Given the description of an element on the screen output the (x, y) to click on. 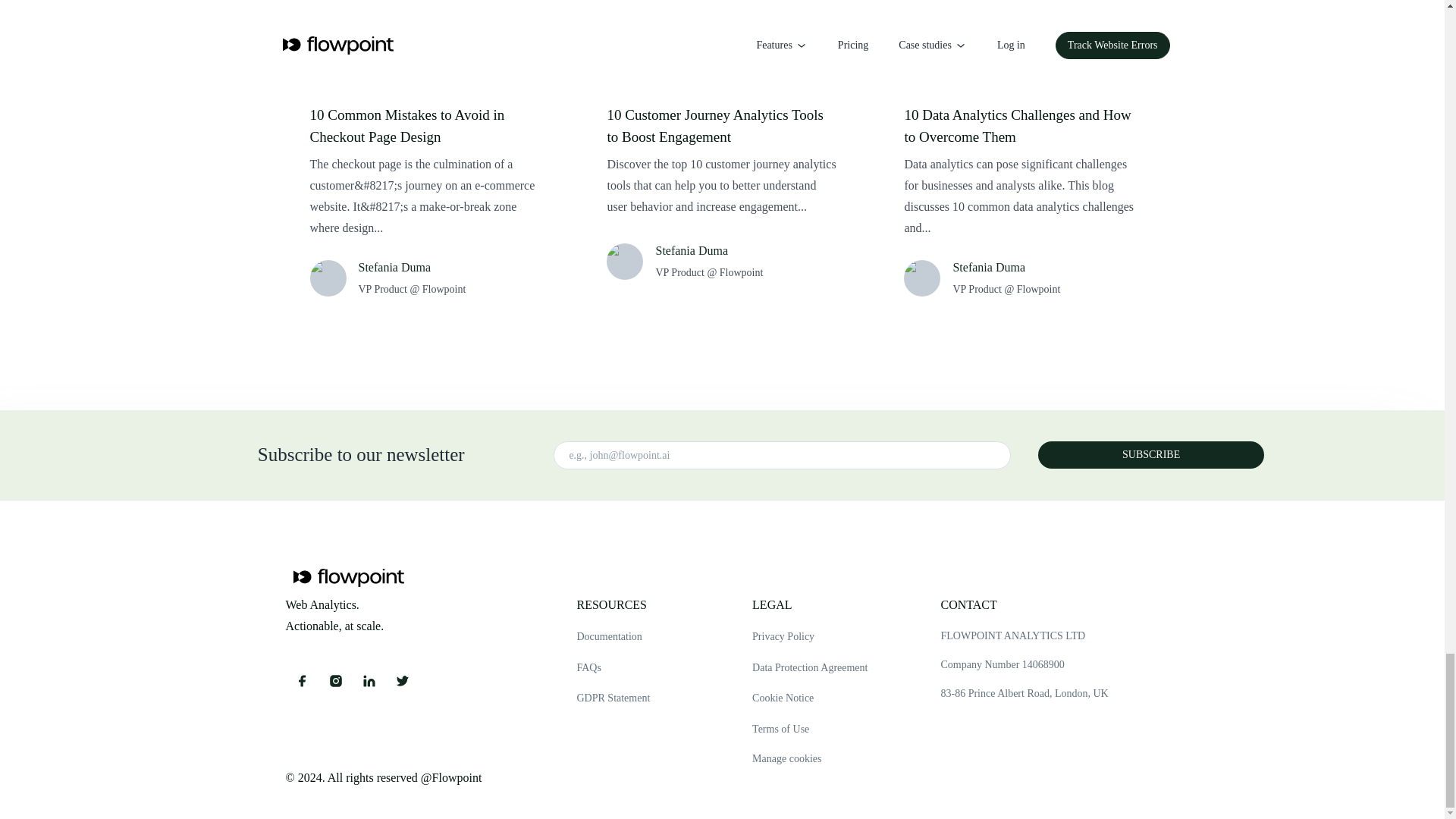
Terms of Use (809, 729)
Cookie Notice (809, 698)
10 Common Mistakes to Avoid in Checkout Page Design (424, 126)
10 Customer Journey Analytics Tools to Boost Engagement (722, 126)
FAQs (612, 668)
Data Protection Agreement (809, 668)
Privacy Policy (809, 637)
10 Data Analytics Challenges and How to Overcome Them (1019, 126)
Documentation (612, 637)
SUBSCRIBE (1150, 454)
GDPR Statement (612, 698)
